Given the description of an element on the screen output the (x, y) to click on. 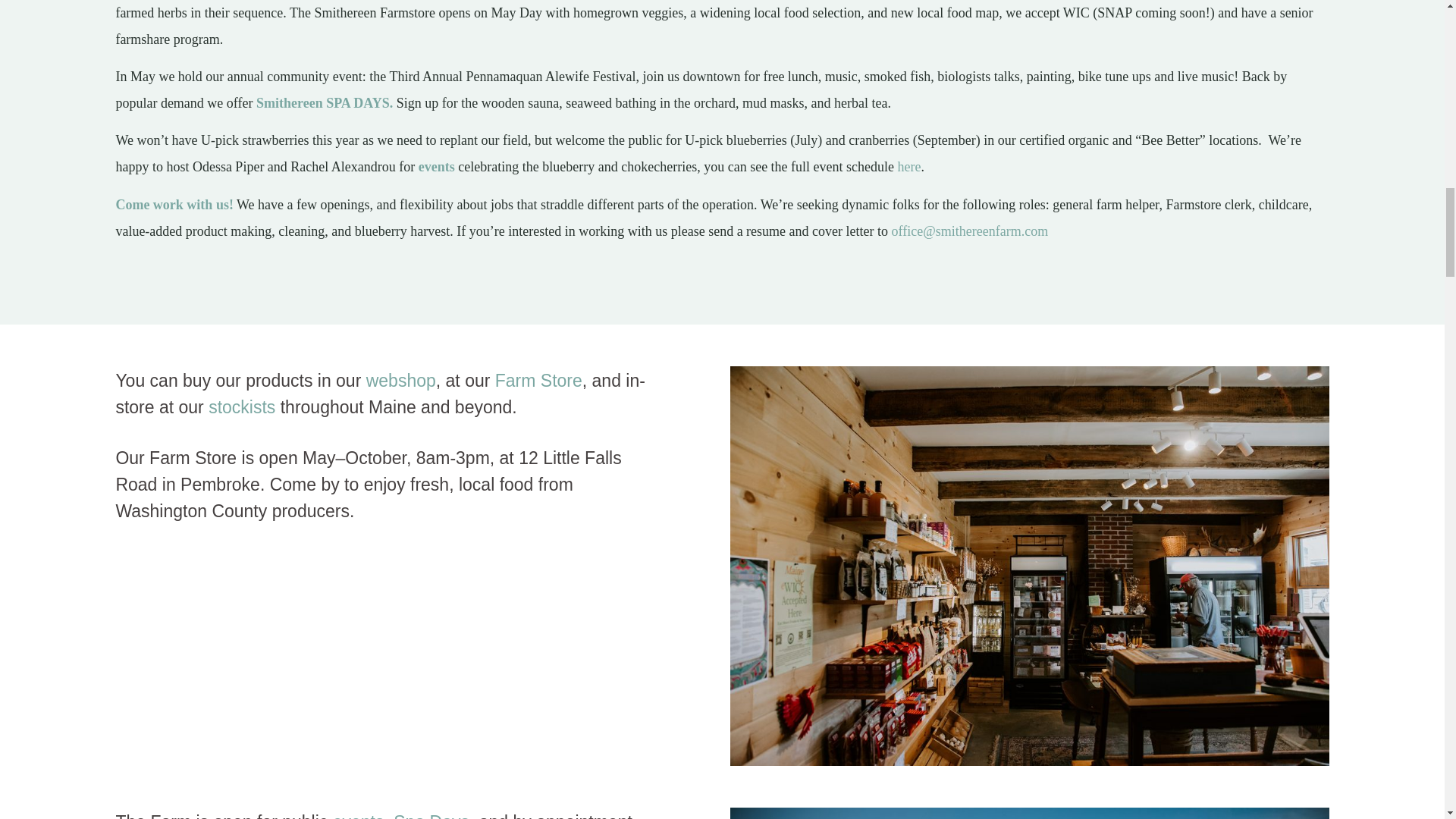
events (358, 815)
Spa Days (430, 815)
Smithereen SPA DAYS. (324, 102)
stockists (241, 406)
here (909, 166)
Come work with us! (173, 204)
webshop (400, 380)
Farm Store (538, 380)
events (436, 166)
